Given the description of an element on the screen output the (x, y) to click on. 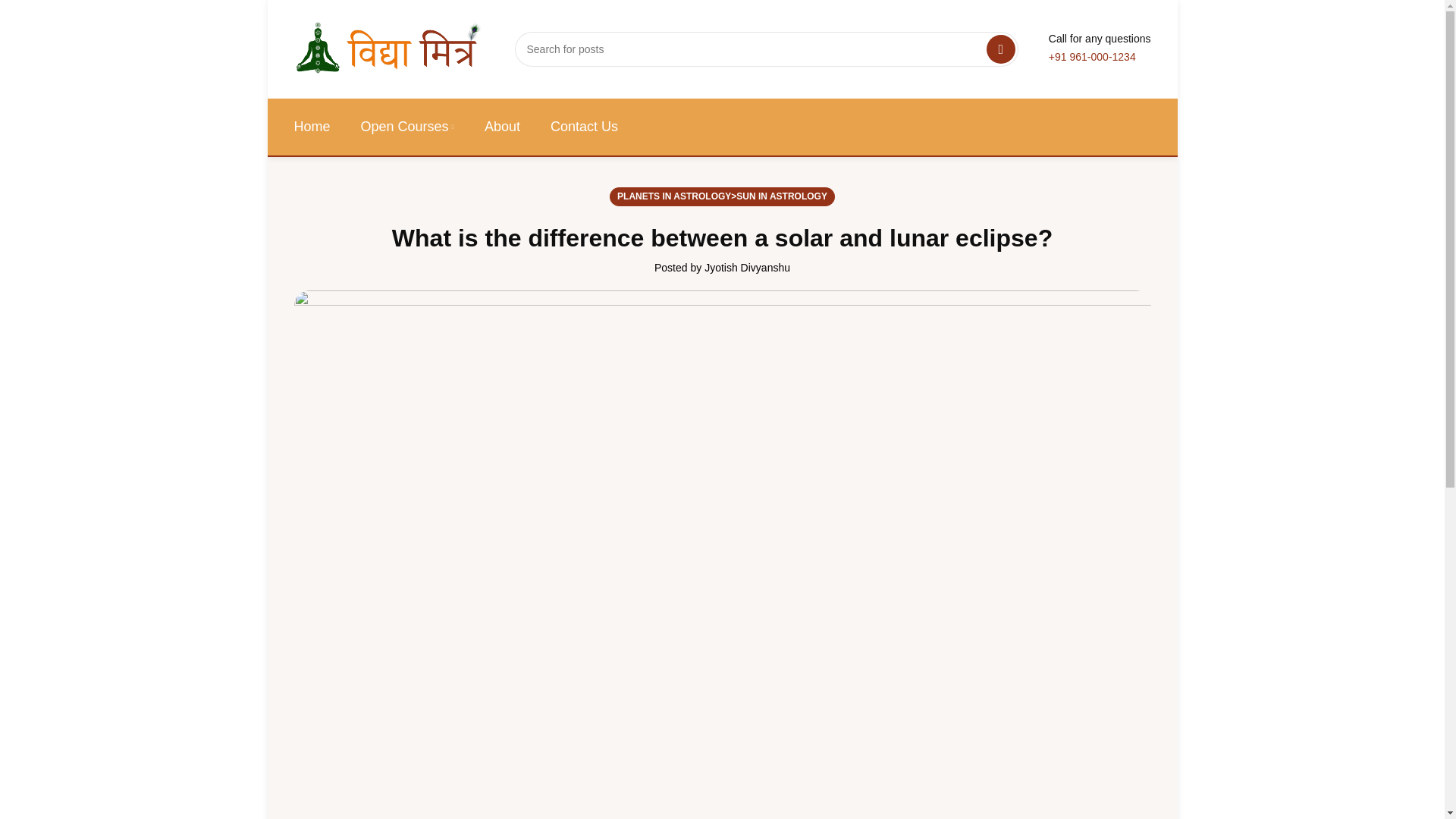
Home (312, 127)
Search (1000, 49)
Search for posts (765, 48)
Jyotish Divyanshu (747, 267)
Contact Us (583, 127)
Open Courses (407, 127)
About (501, 127)
